Given the description of an element on the screen output the (x, y) to click on. 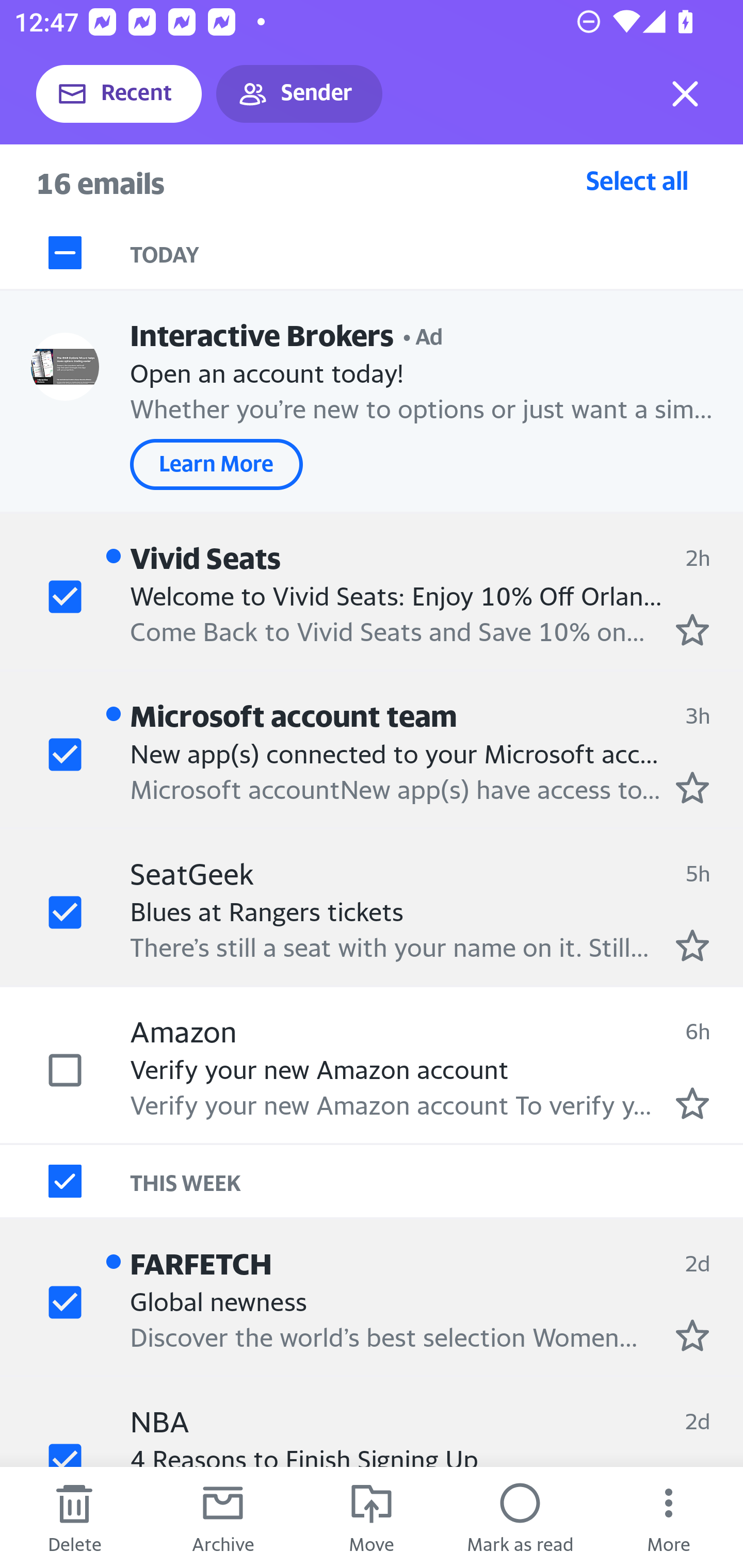
Sender (299, 93)
Exit selection mode (684, 93)
Select all (637, 180)
TODAY (436, 252)
Mark as starred. (692, 629)
Mark as starred. (692, 787)
Mark as starred. (692, 944)
Mark as starred. (692, 1103)
THIS WEEK (436, 1181)
Mark as starred. (692, 1335)
Delete (74, 1517)
Archive (222, 1517)
Move (371, 1517)
Mark as read (519, 1517)
More (668, 1517)
